Given the description of an element on the screen output the (x, y) to click on. 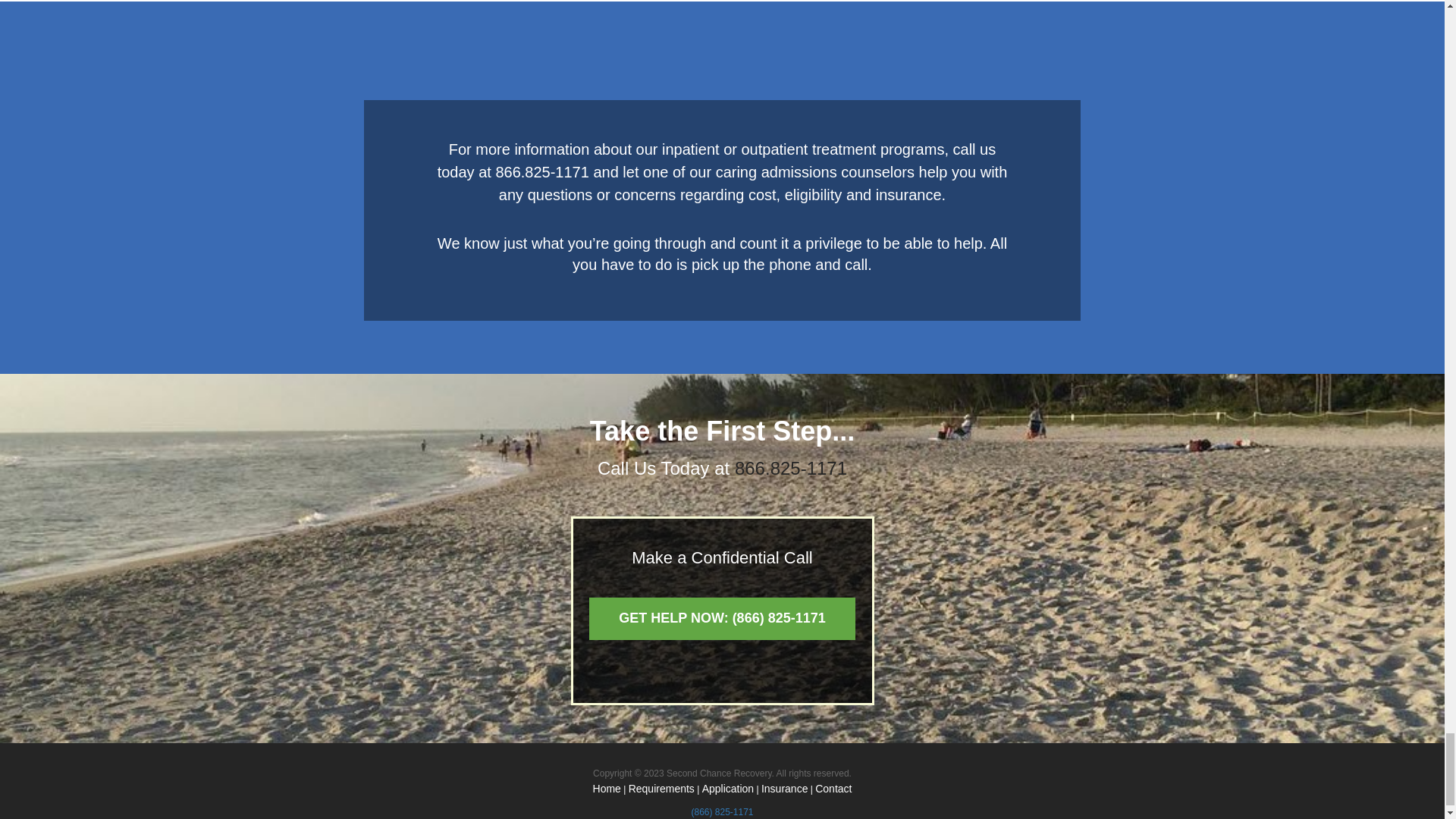
866.825-1171 (791, 467)
Application (727, 788)
Requirements (661, 788)
866.825-1171 (543, 171)
Contact (833, 788)
Insurance (784, 788)
Home (606, 788)
